Given the description of an element on the screen output the (x, y) to click on. 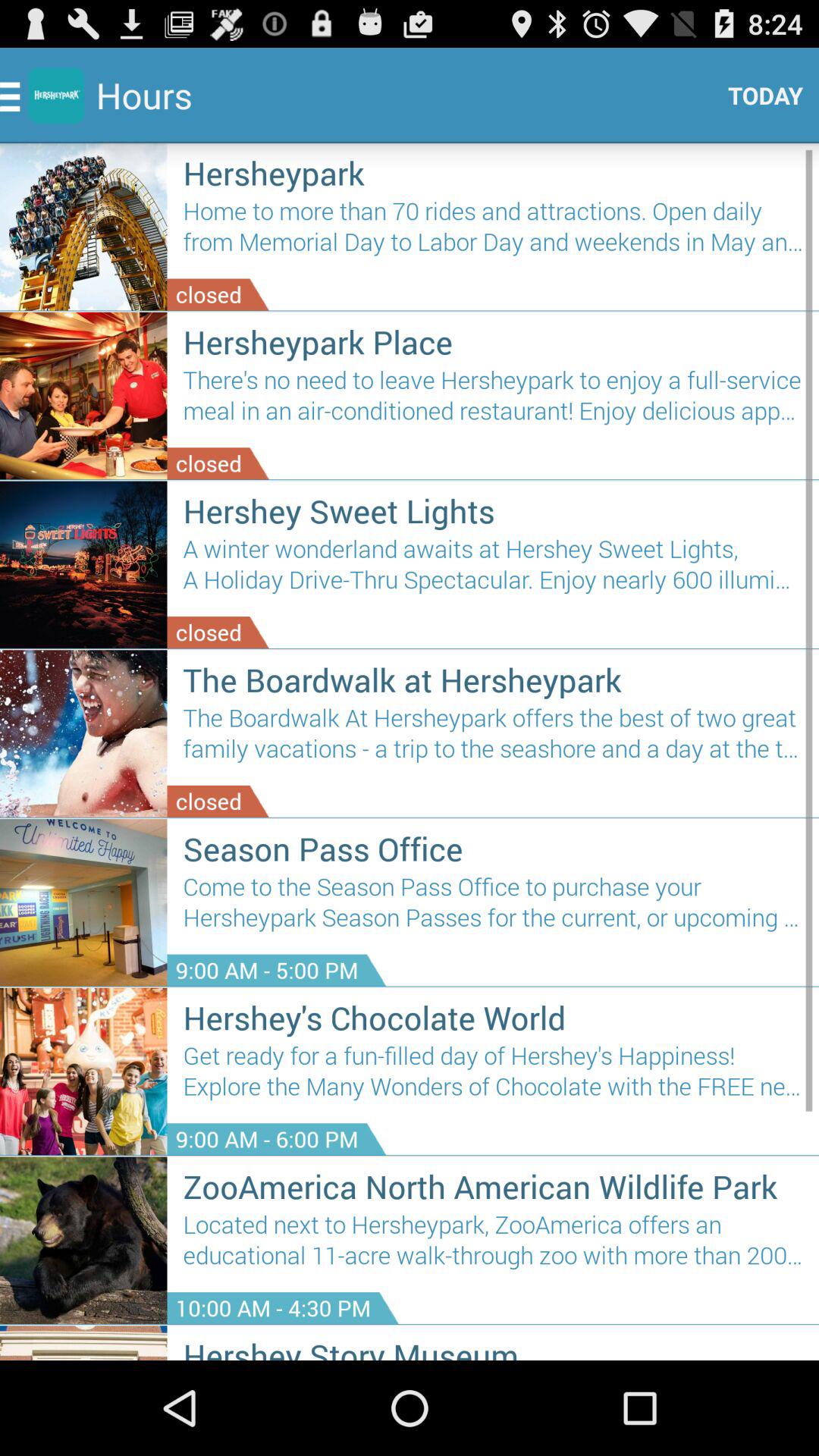
tap the icon below zooamerica north american item (493, 1246)
